Given the description of an element on the screen output the (x, y) to click on. 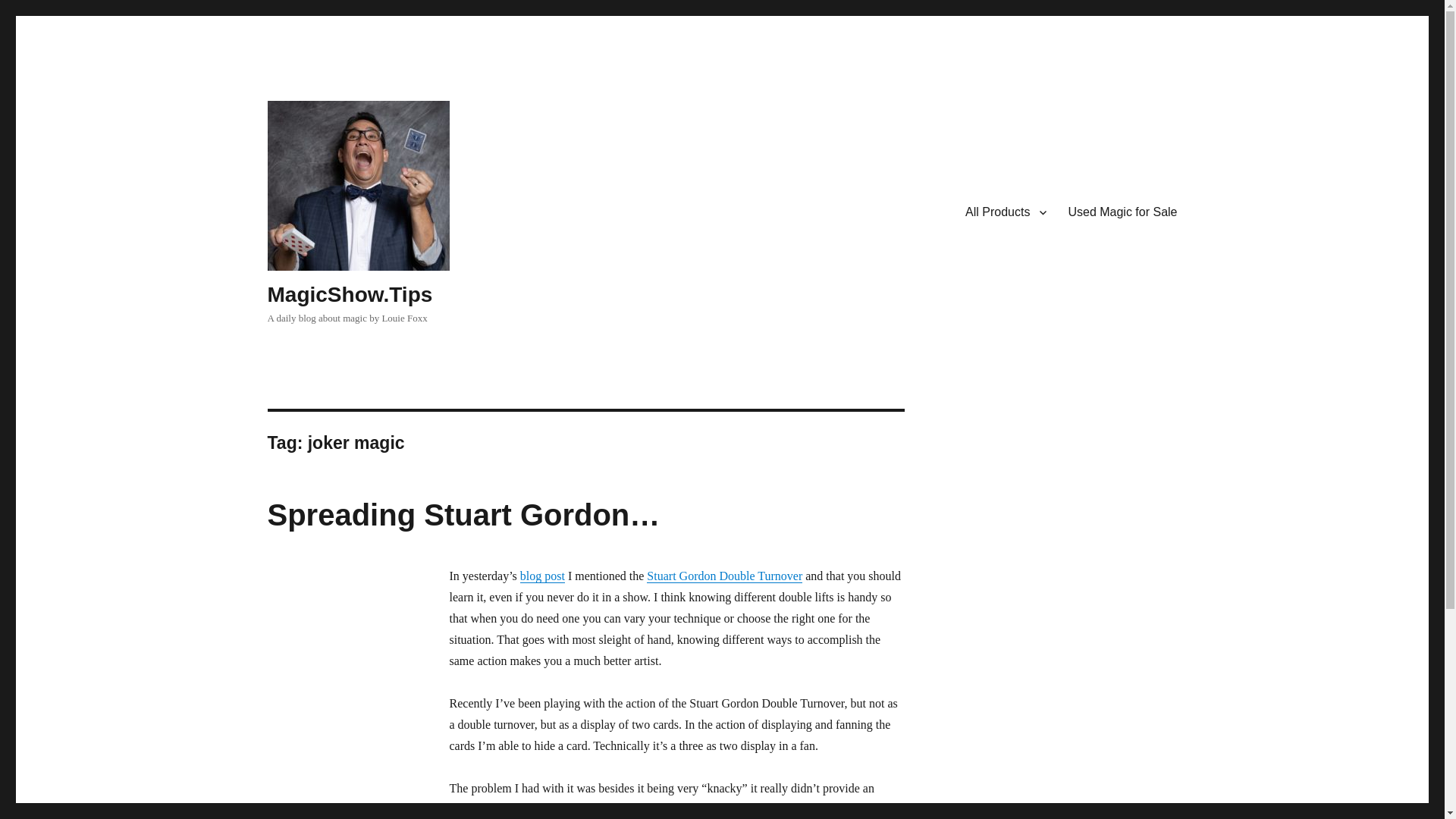
blog post (541, 575)
All Products (1006, 212)
Stuart Gordon Double Turnover (724, 575)
Used Magic for Sale (1122, 212)
MagicShow.Tips (349, 294)
